Given the description of an element on the screen output the (x, y) to click on. 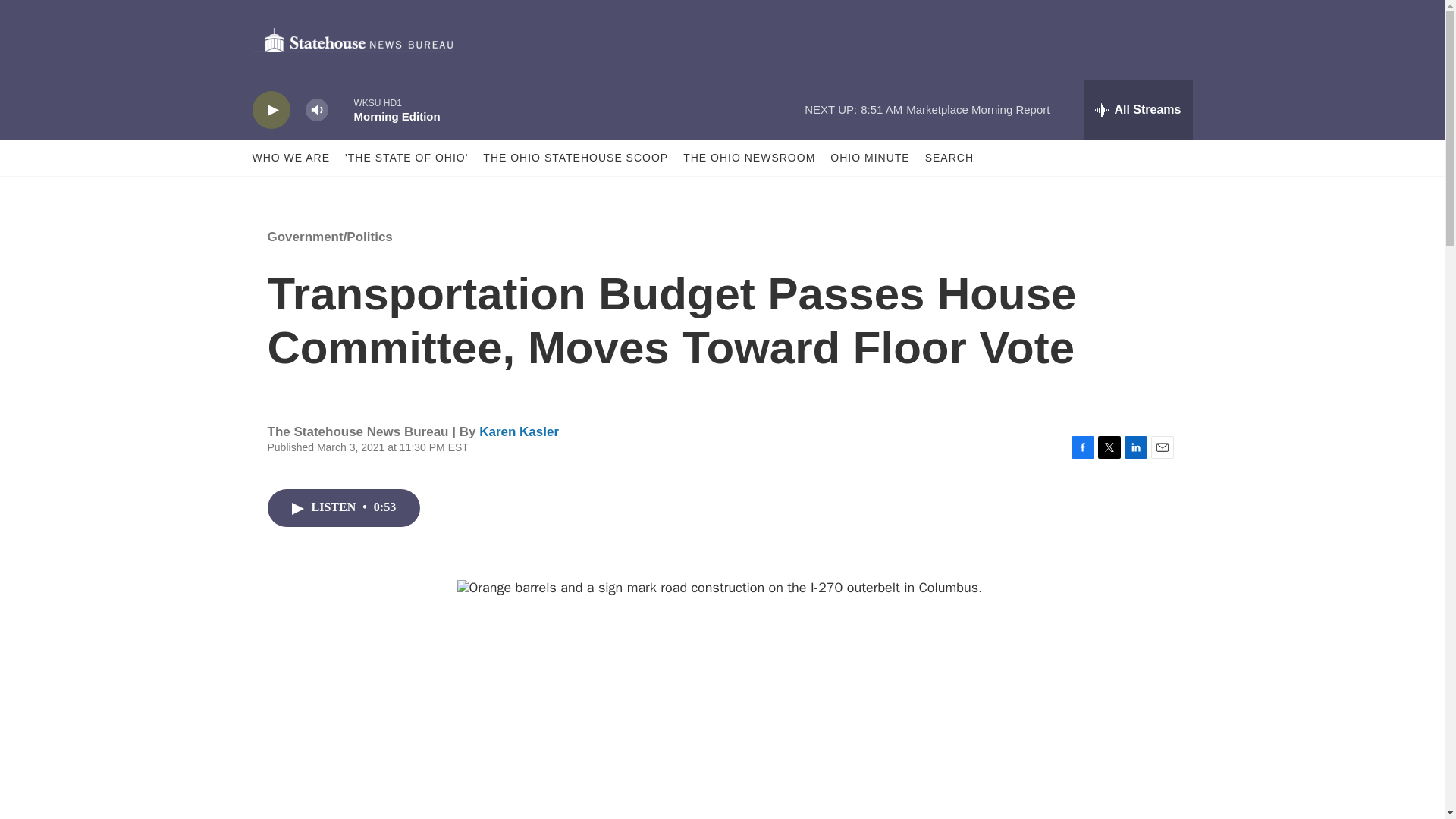
Karen Kasler (519, 431)
'THE STATE OF OHIO' (406, 158)
All Streams (1137, 109)
OHIO MINUTE (868, 158)
Twitter (1109, 446)
WHO WE ARE (290, 158)
LinkedIn (1135, 446)
THE OHIO NEWSROOM (748, 158)
Facebook (1081, 446)
SEARCH (949, 158)
THE OHIO STATEHOUSE SCOOP (575, 158)
Email (1162, 446)
